Given the description of an element on the screen output the (x, y) to click on. 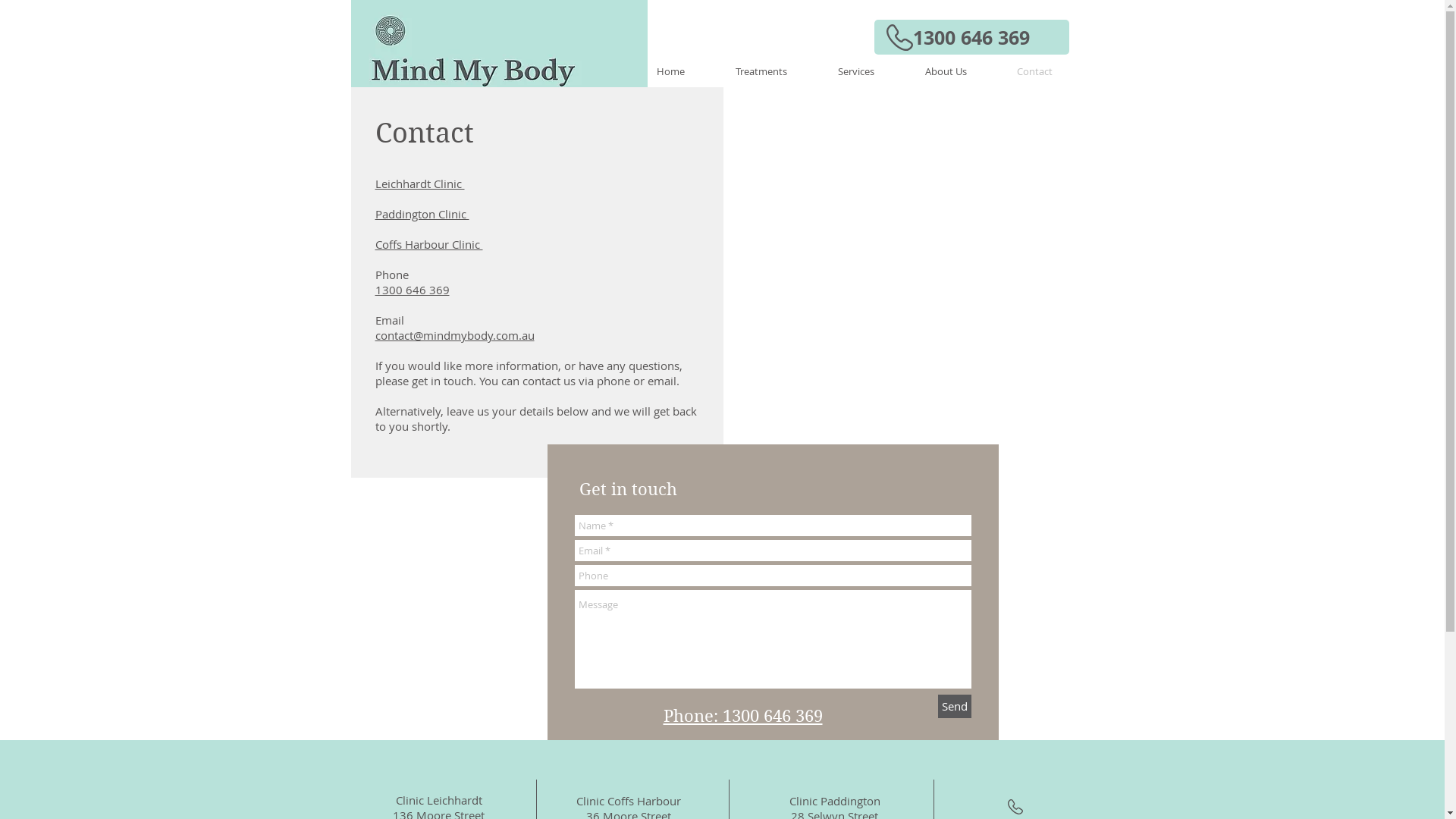
Send Element type: text (953, 706)
Paddington Clinic  Element type: text (421, 213)
Phone: 1300 646 369 Element type: text (742, 715)
Services Element type: text (869, 71)
Contact Element type: text (1048, 71)
1300 646 369 Element type: text (970, 36)
1300 646 369 Element type: text (411, 289)
Treatments Element type: text (774, 71)
Leichhardt Clinic  Element type: text (419, 183)
contact@mindmybody.com.au Element type: text (453, 334)
Home Element type: text (683, 71)
Coffs Harbour Clinic  Element type: text (428, 243)
About Us Element type: text (958, 71)
